Given the description of an element on the screen output the (x, y) to click on. 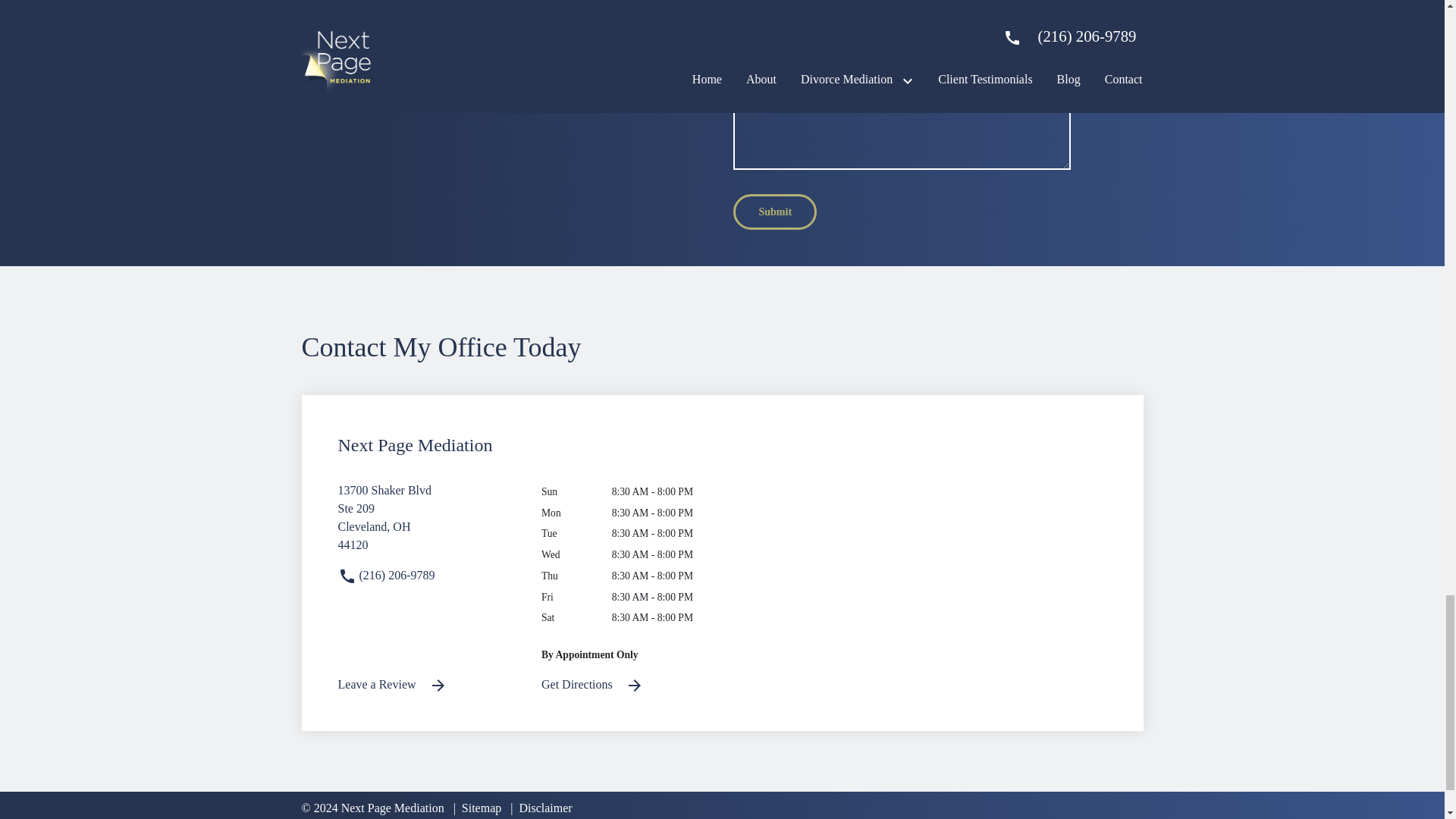
Submit (774, 212)
Get Directions (631, 684)
Disclaimer (541, 807)
Leave a Review (428, 523)
Sitemap (428, 684)
